Given the description of an element on the screen output the (x, y) to click on. 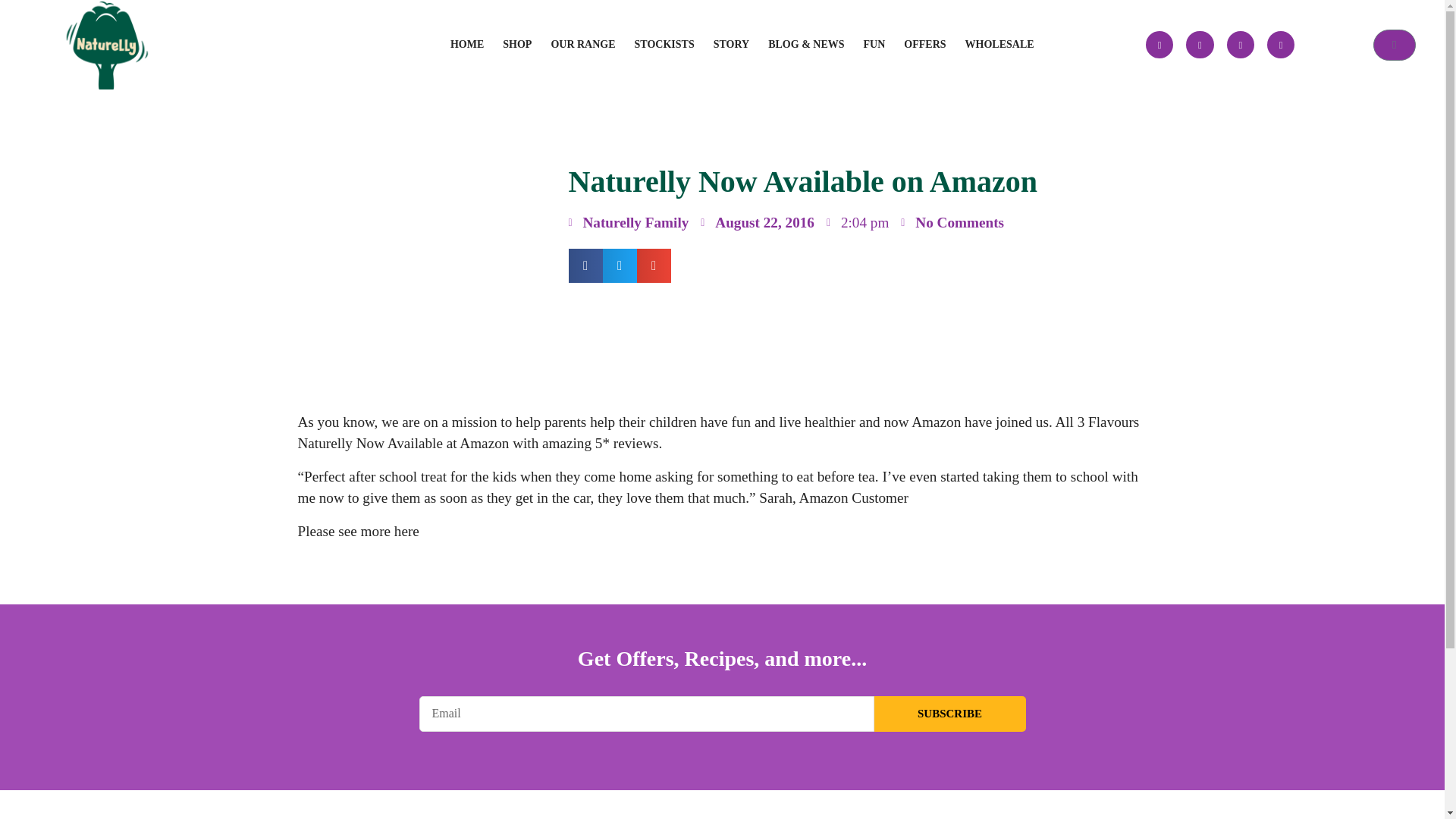
Naturelly Family (628, 223)
FUN (874, 44)
STORY (731, 44)
SHOP (517, 44)
OFFERS (924, 44)
August 22, 2016 (756, 223)
STOCKISTS (665, 44)
HOME (467, 44)
No Comments (952, 223)
SUBSCRIBE (949, 714)
OUR RANGE (582, 44)
WHOLESALE (999, 44)
